Given the description of an element on the screen output the (x, y) to click on. 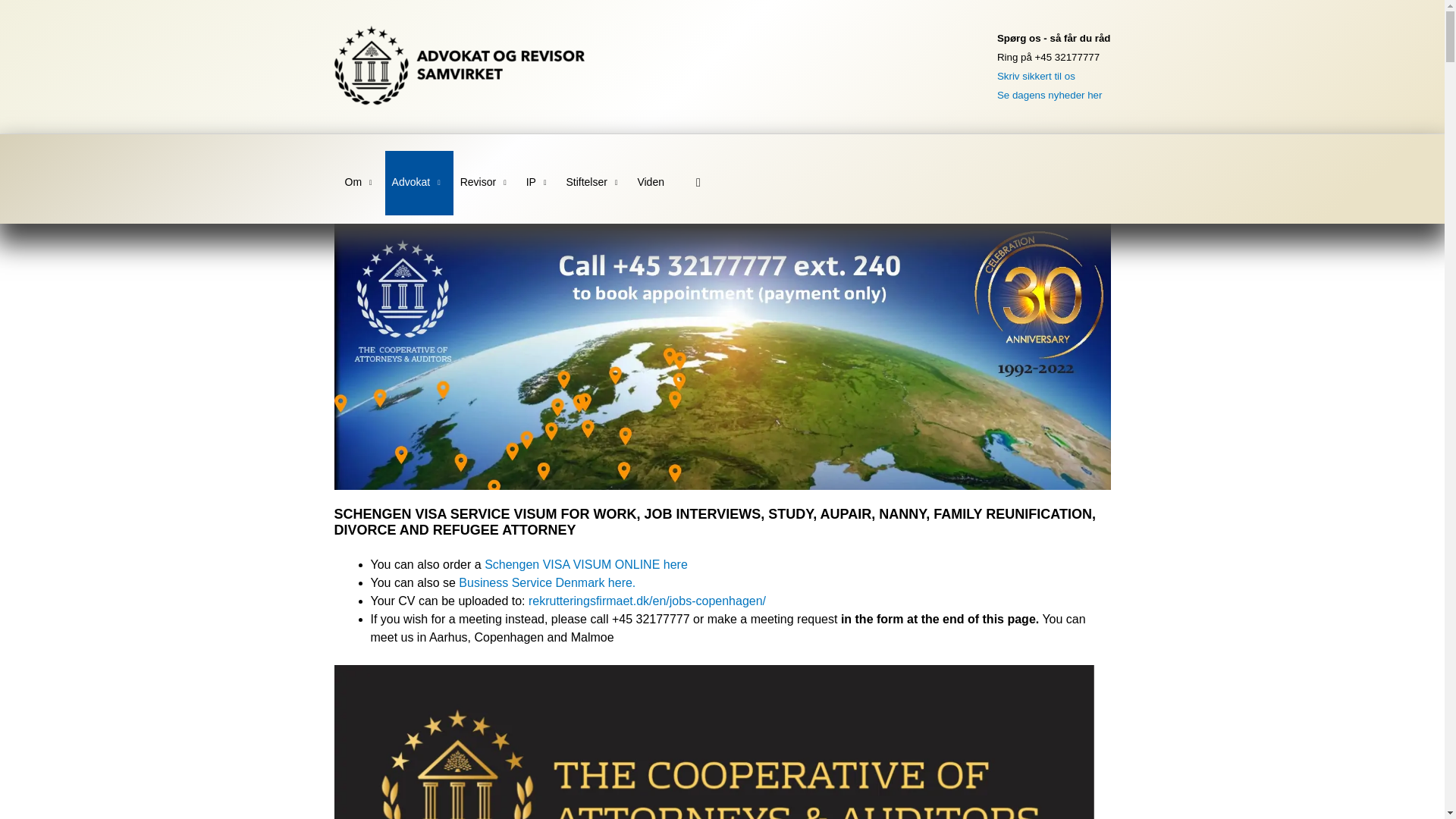
Stiftelser (594, 182)
Skriv sikkert til os (1036, 75)
Se dagens nyheder her (1049, 94)
Revisor (485, 182)
Revisor (485, 182)
Advokat (418, 182)
